Given the description of an element on the screen output the (x, y) to click on. 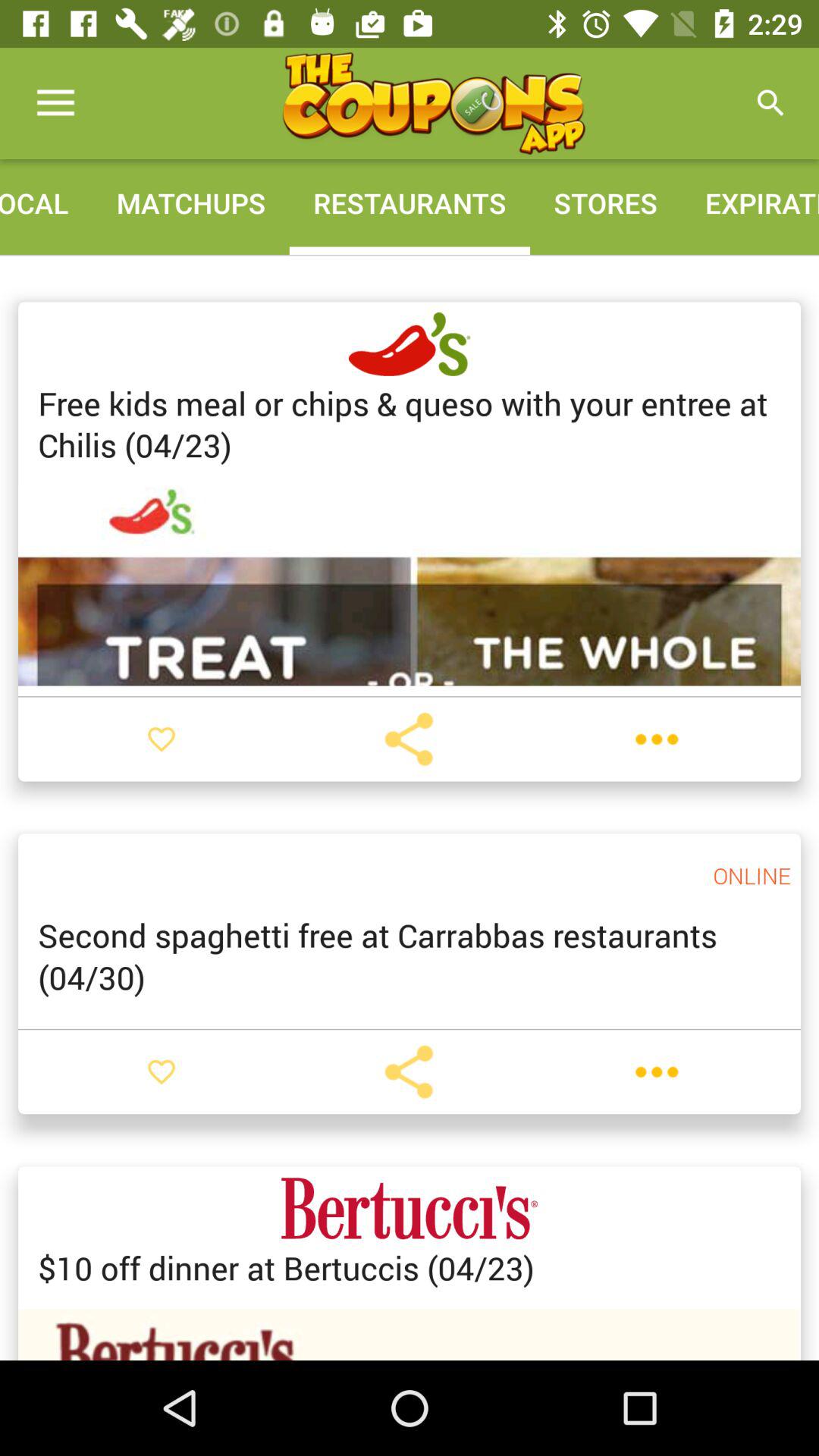
turn off expiration icon (750, 202)
